Given the description of an element on the screen output the (x, y) to click on. 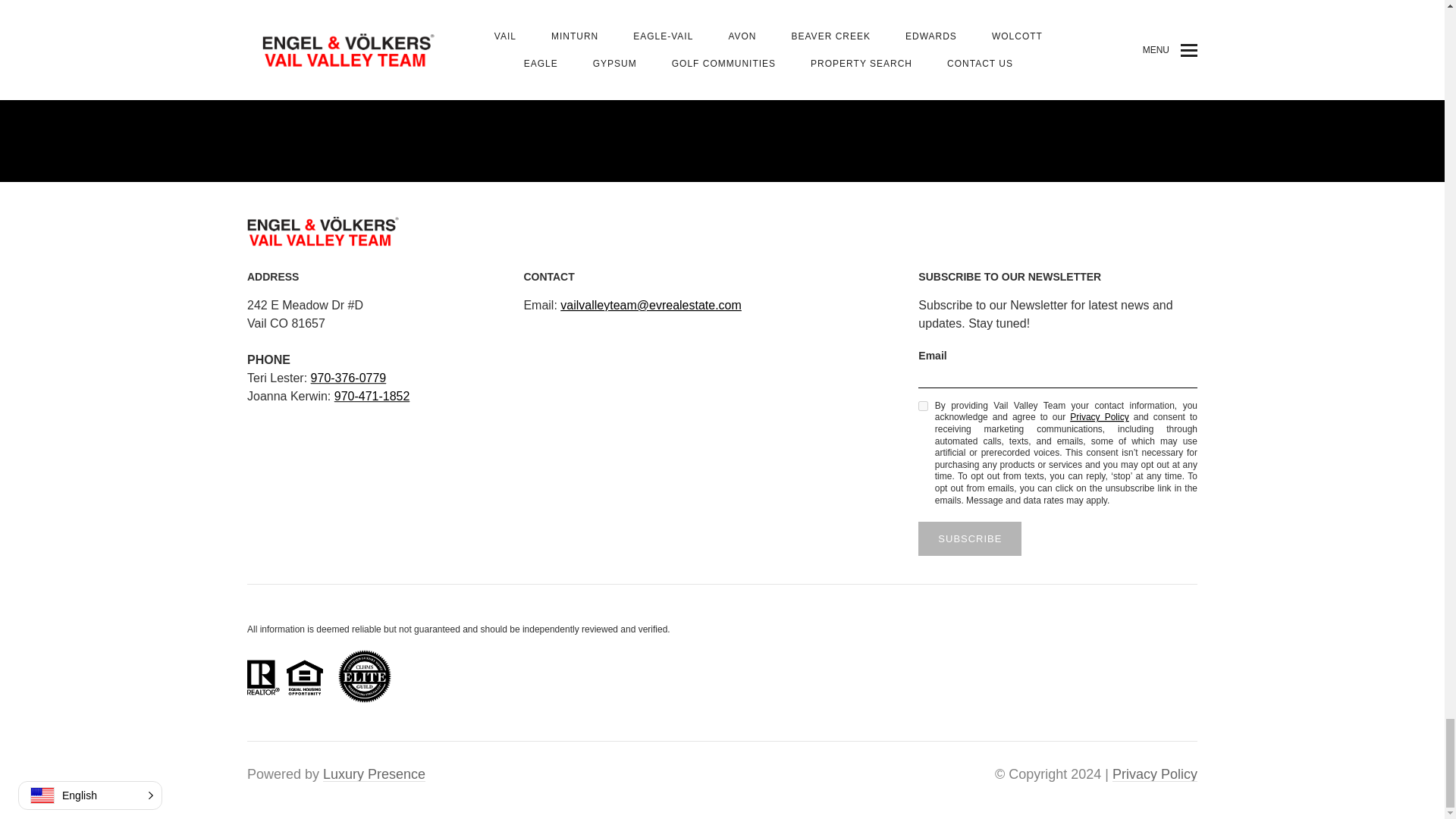
on (923, 406)
Subscribe (970, 538)
